Given the description of an element on the screen output the (x, y) to click on. 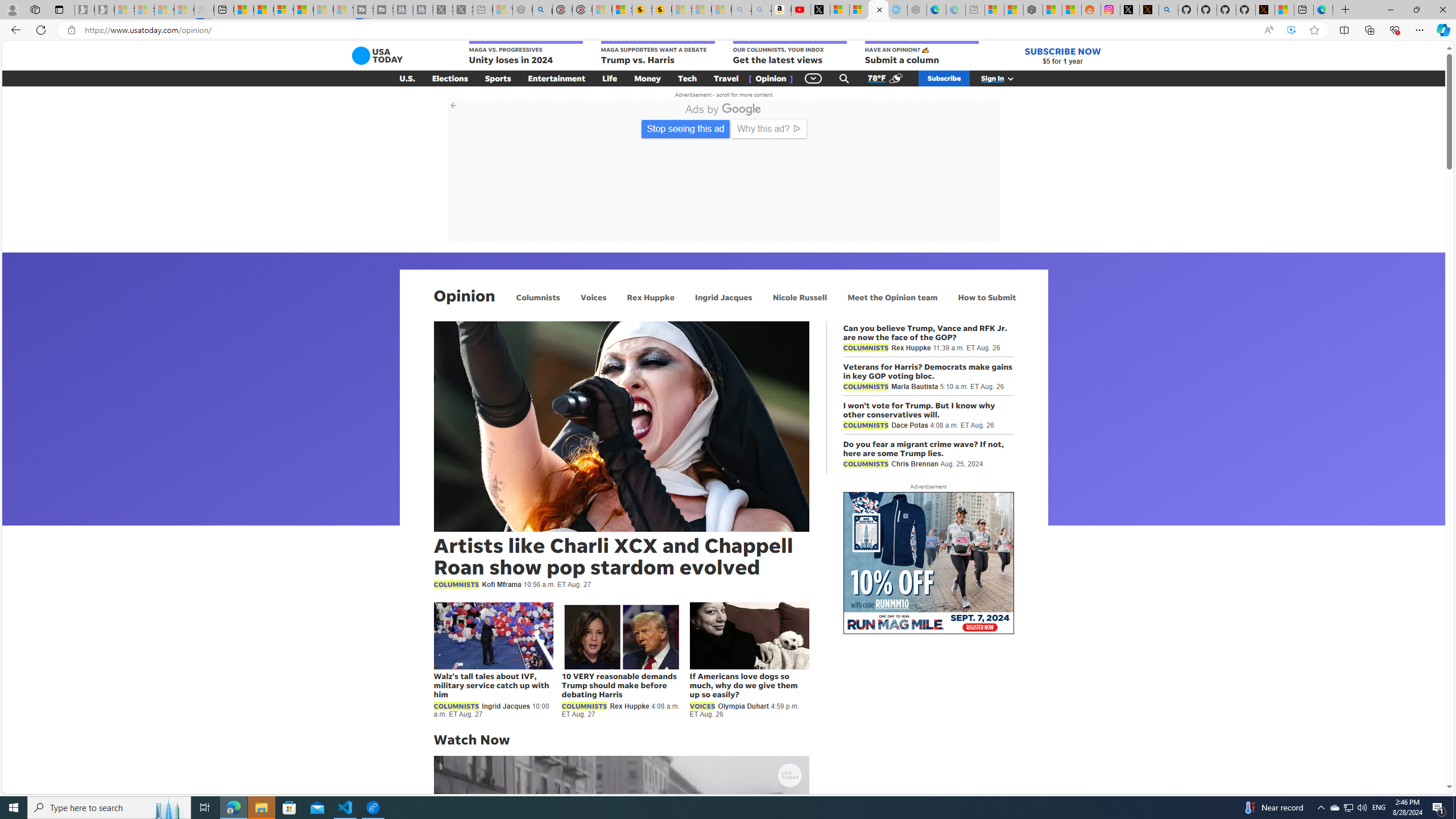
Newsletter Sign Up - Sleeping (104, 9)
Meet the Opinion team (892, 296)
Nordace - Nordace has arrived Hong Kong - Sleeping (916, 9)
Life (609, 78)
Tech (687, 78)
Opinion: Op-Ed and Commentary - USA TODAY (877, 9)
